Given the description of an element on the screen output the (x, y) to click on. 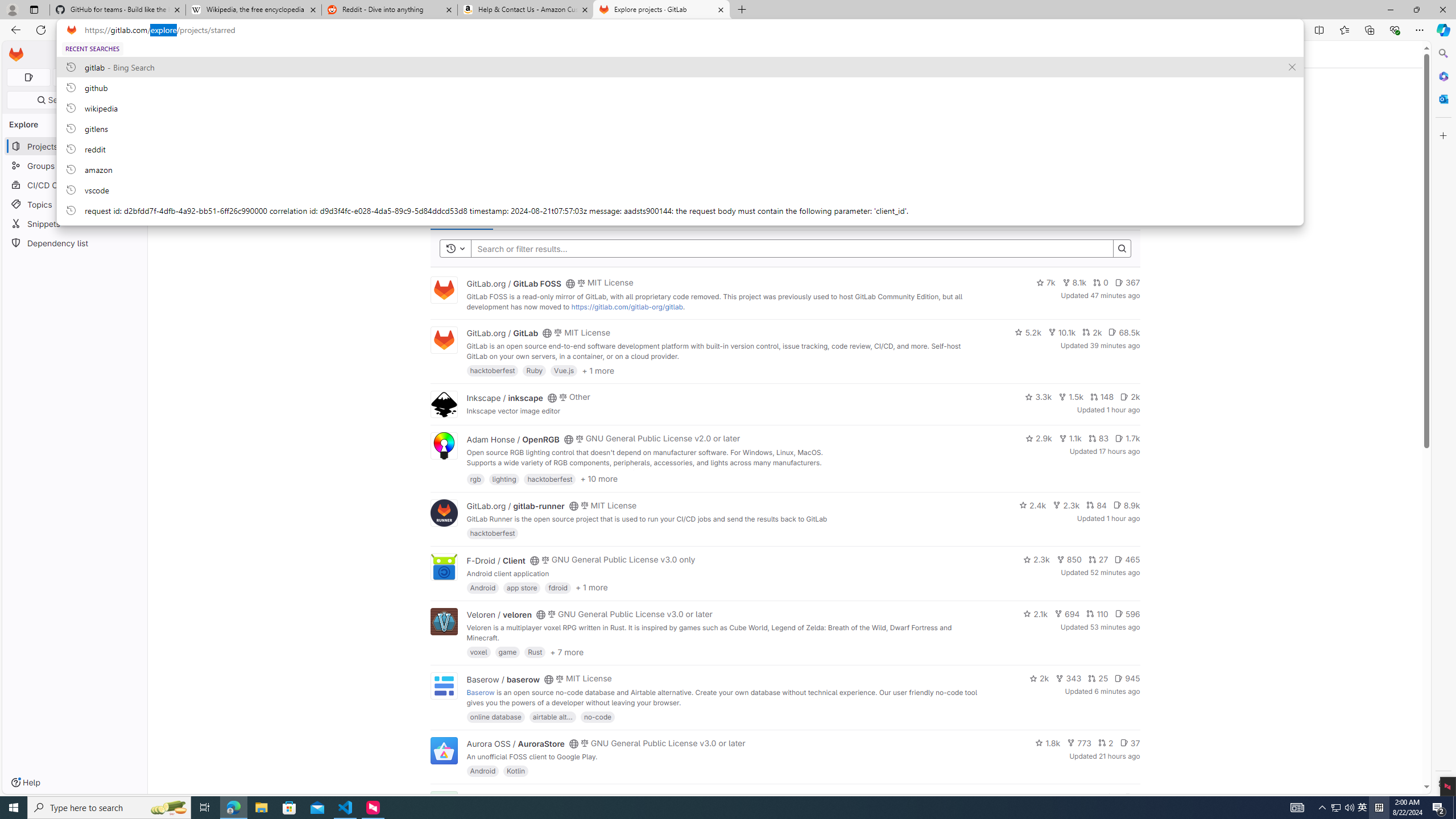
Projects (211, 53)
CI/CD Catalog (74, 185)
gitlab, recent searches from history (679, 66)
GitLab.org / gitlab-runner (514, 506)
37 (1129, 742)
Skip to main content (13, 49)
2k (1039, 678)
Vue.js (563, 370)
Remove suggestion (1291, 66)
Most starred (461, 216)
Topics (74, 203)
